Given the description of an element on the screen output the (x, y) to click on. 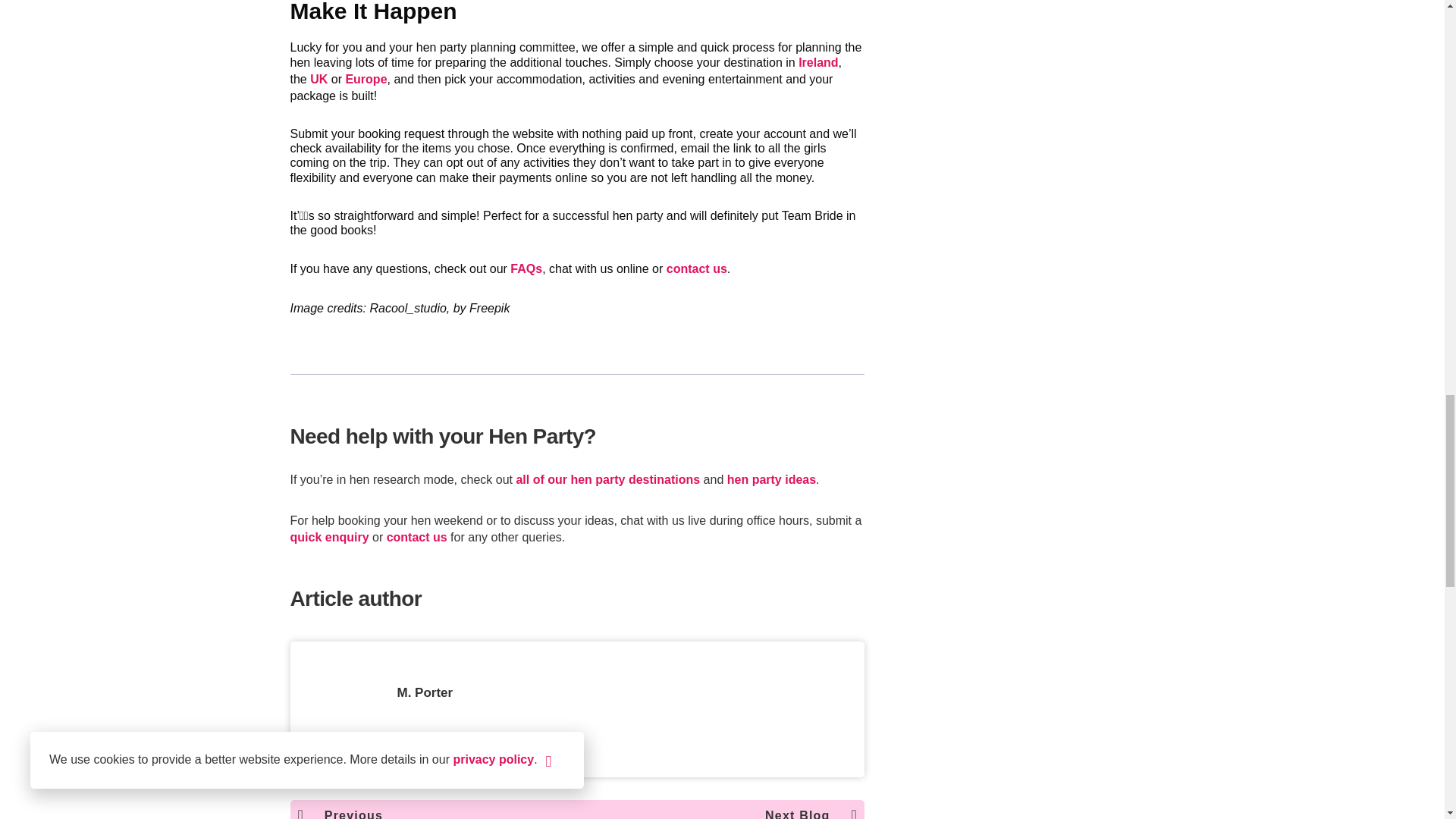
Europe (366, 78)
Ireland (817, 62)
contact us (696, 268)
FAQs (526, 268)
all of our hen party destinations (607, 479)
UK (318, 78)
hen party ideas (770, 479)
